Given the description of an element on the screen output the (x, y) to click on. 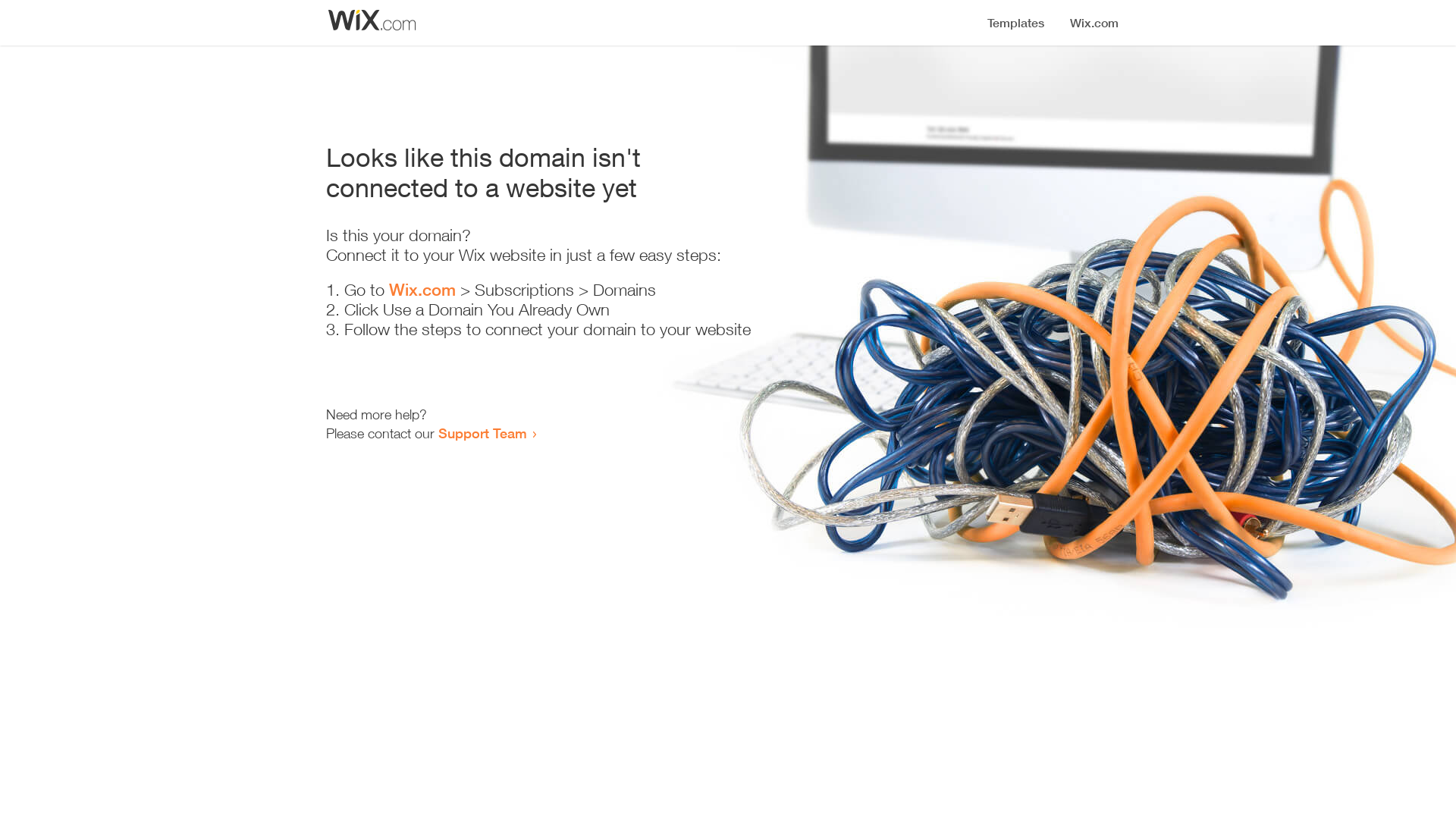
Wix.com Element type: text (422, 289)
Support Team Element type: text (482, 432)
